Given the description of an element on the screen output the (x, y) to click on. 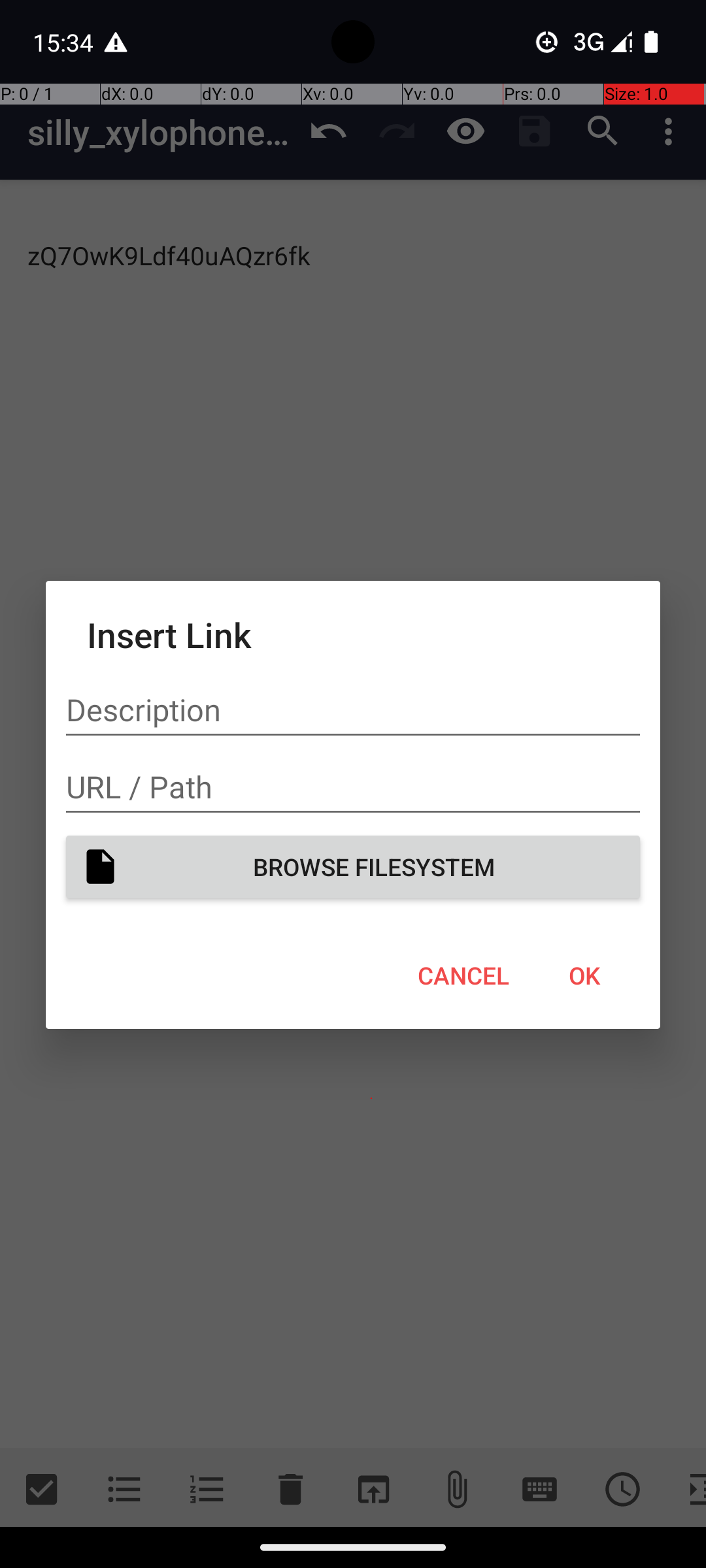
Insert Link Element type: android.widget.TextView (352, 634)
Description Element type: android.widget.EditText (352, 709)
URL / Path Element type: android.widget.EditText (352, 786)
BROWSE FILESYSTEM Element type: android.widget.Button (352, 866)
